Given the description of an element on the screen output the (x, y) to click on. 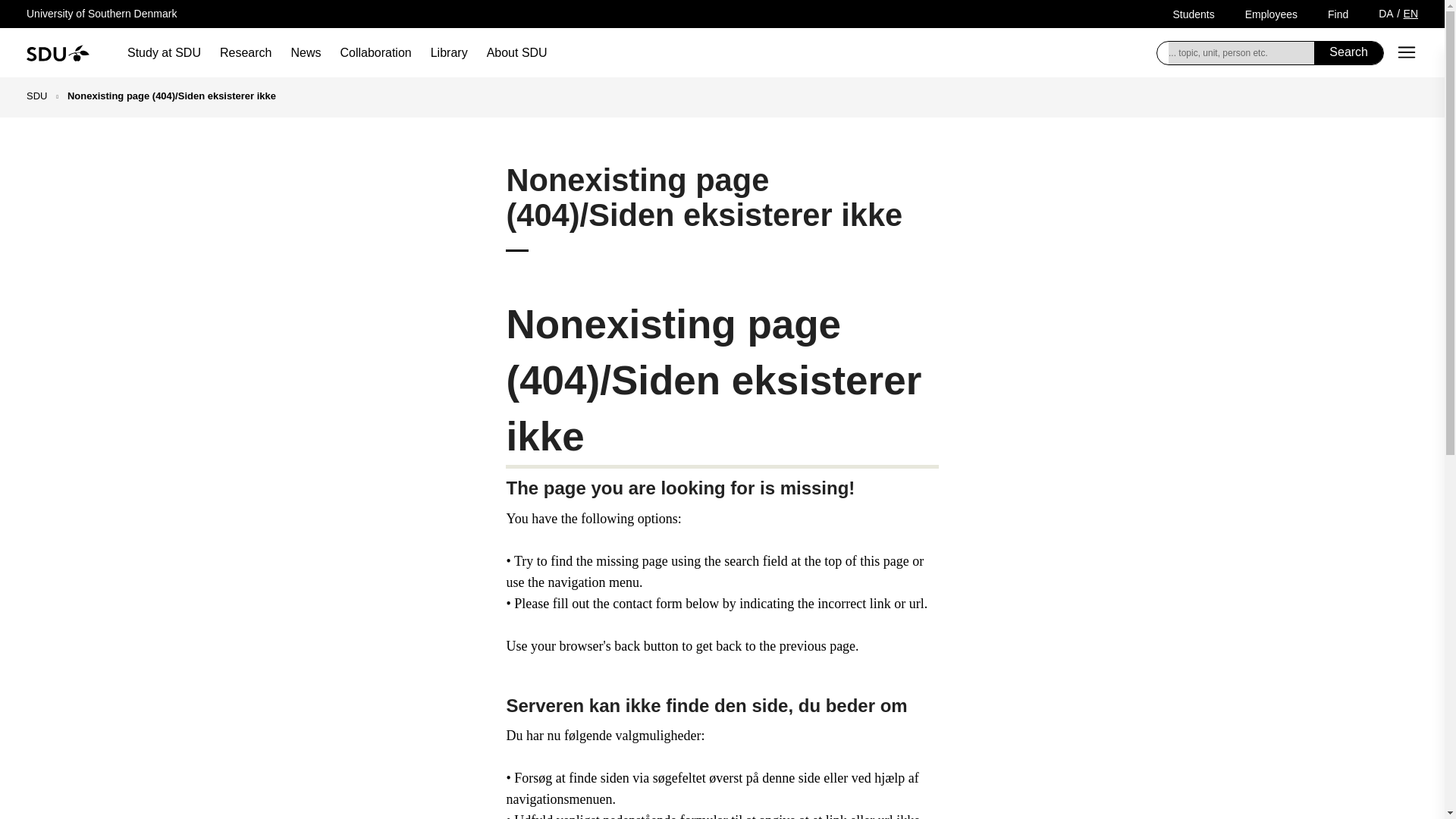
Students (1193, 13)
Employees (1270, 13)
DA (1385, 13)
University of Southern Denmark, SDU (57, 52)
University of Southern Denmark (101, 13)
EN (1410, 13)
Find (1337, 13)
